Given the description of an element on the screen output the (x, y) to click on. 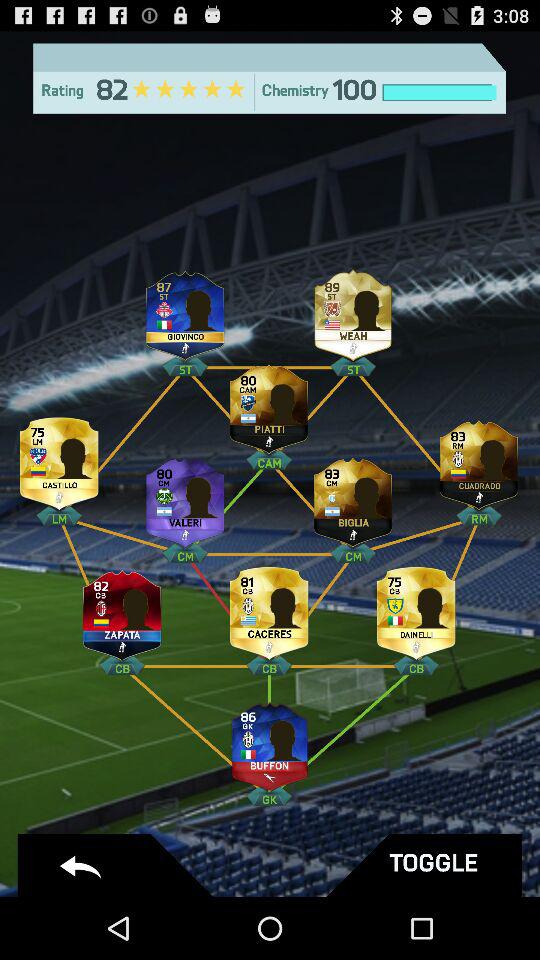
view player 's profile (185, 310)
